Given the description of an element on the screen output the (x, y) to click on. 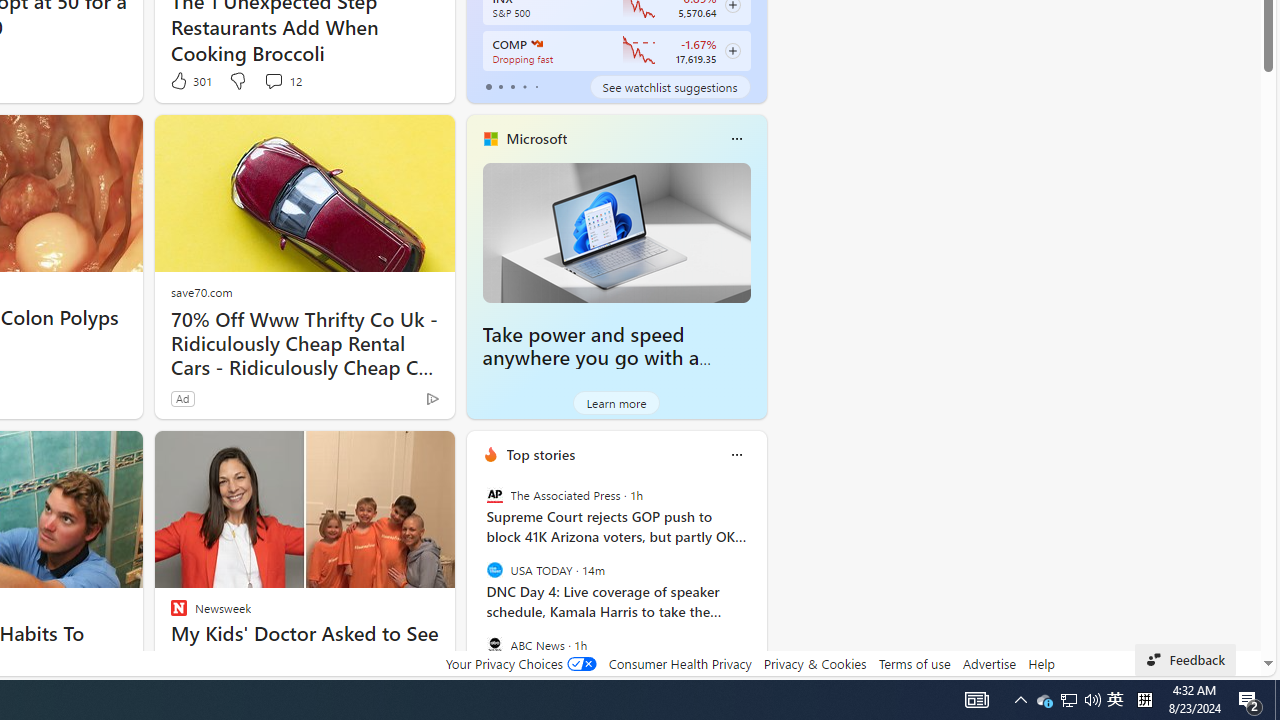
tab-3 (524, 86)
tab-0 (488, 86)
Take power and speed anywhere you go with a Windows laptop. (591, 357)
Class: follow-button  m (732, 51)
tab-4 (535, 86)
save70.com (201, 291)
View comments 12 Comment (281, 80)
Take power and speed anywhere you go with a Windows laptop. (616, 232)
